Given the description of an element on the screen output the (x, y) to click on. 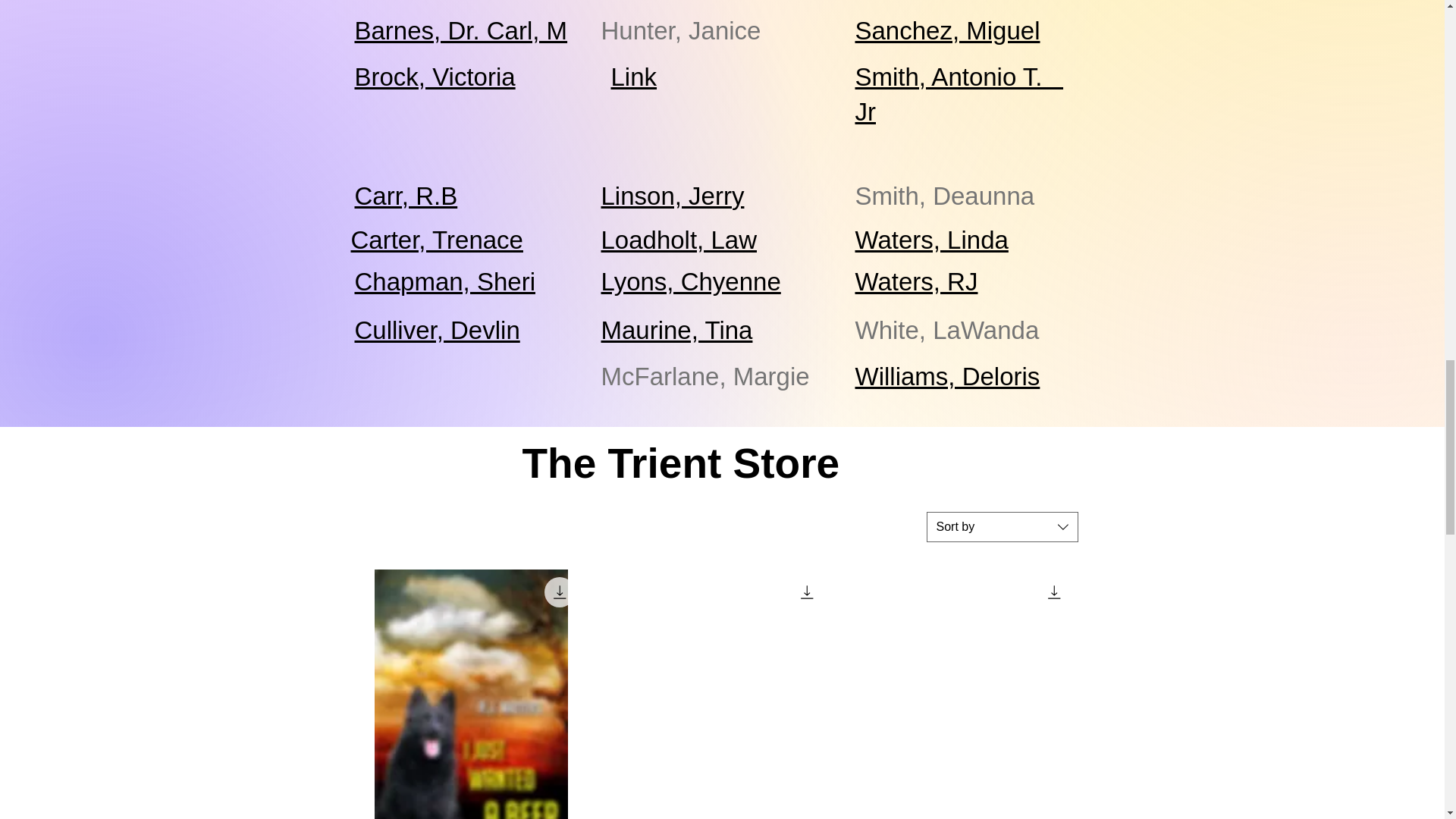
Sanchez, Miguel (948, 30)
Maurine, Tina (675, 329)
Linson, Jerry (671, 195)
Link (634, 76)
Waters, RJ (917, 281)
Sort by (1002, 526)
Carr, R.B (406, 195)
Smith, Antonio T.    Jr (960, 94)
Chapman, Sheri (445, 281)
Carter, Trenace (436, 239)
